Given the description of an element on the screen output the (x, y) to click on. 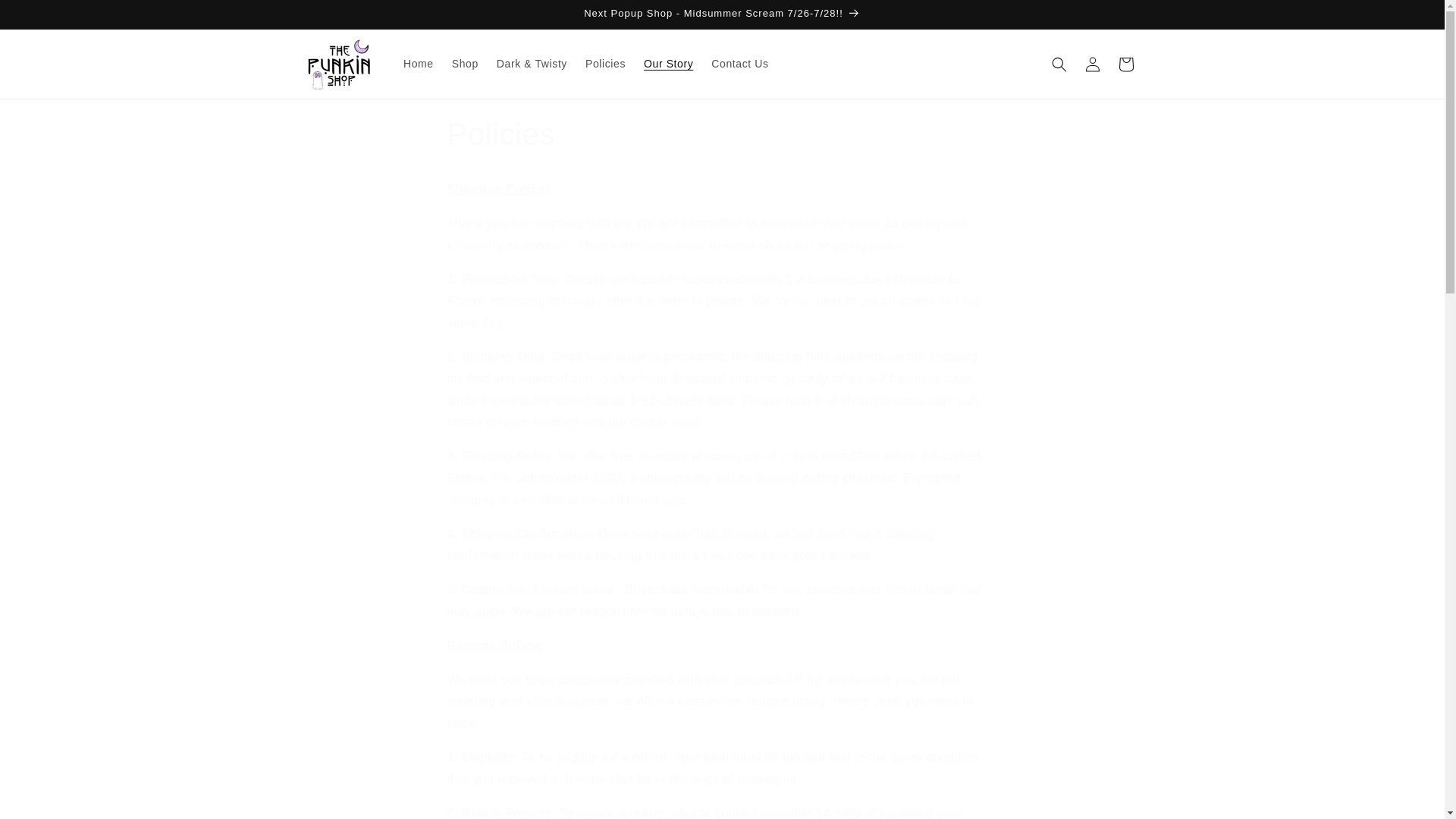
Shop (464, 63)
Contact Us (739, 63)
Log in (1091, 63)
Our Story (667, 63)
Home (418, 63)
Skip to content (45, 17)
Cart (1124, 63)
Policies (605, 63)
Policies (721, 133)
